Given the description of an element on the screen output the (x, y) to click on. 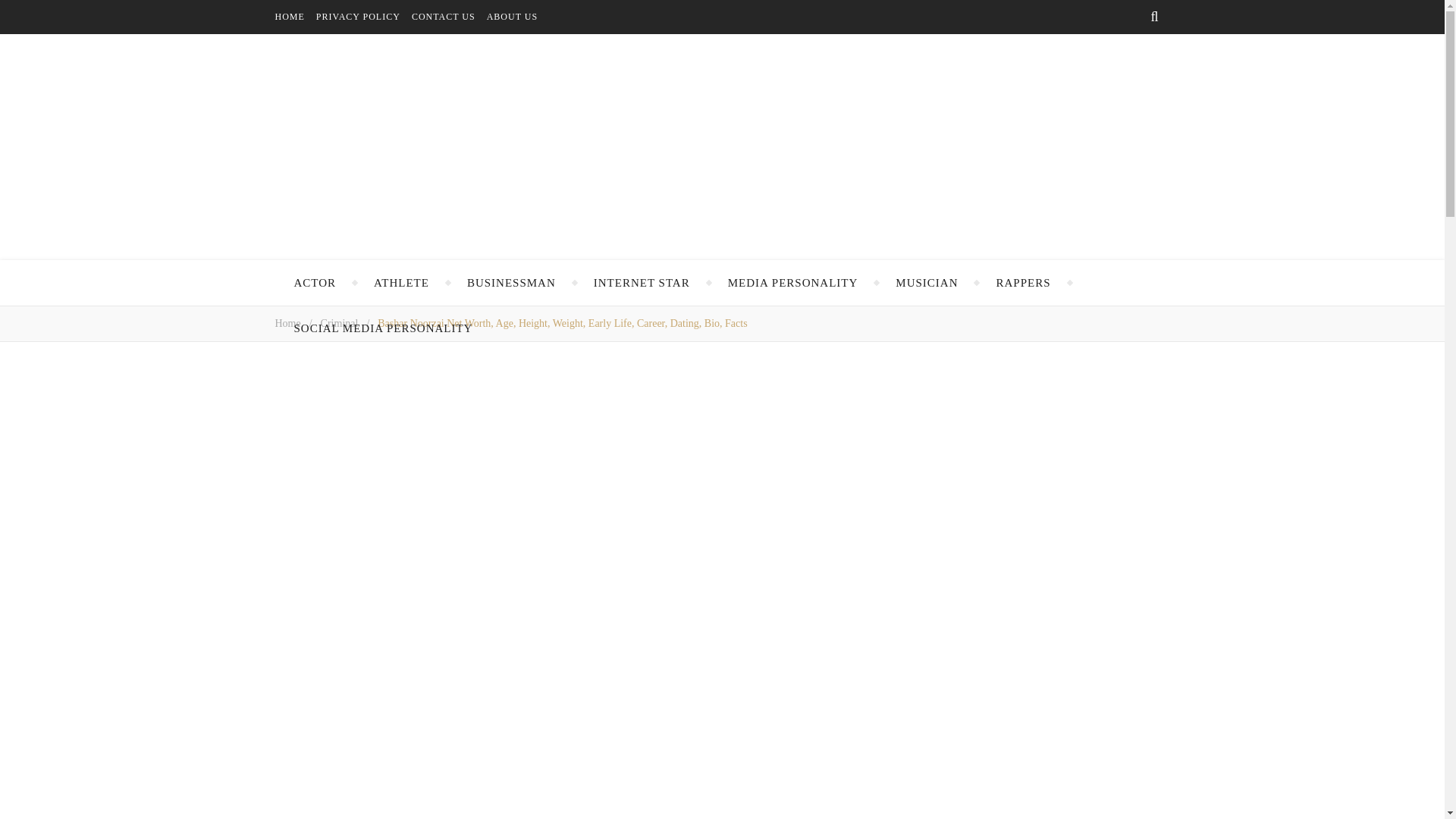
Millions Of Celebs (722, 147)
Criminal (339, 323)
ACTOR (315, 282)
HOME (295, 17)
CONTACT US (449, 17)
PRIVACY POLICY (363, 17)
RAPPERS (1022, 282)
Criminal (339, 323)
ABOUT US (517, 17)
SOCIAL MEDIA PERSONALITY (383, 328)
MEDIA PERSONALITY (793, 282)
BUSINESSMAN (511, 282)
INTERNET STAR (642, 282)
Home (287, 323)
